Given the description of an element on the screen output the (x, y) to click on. 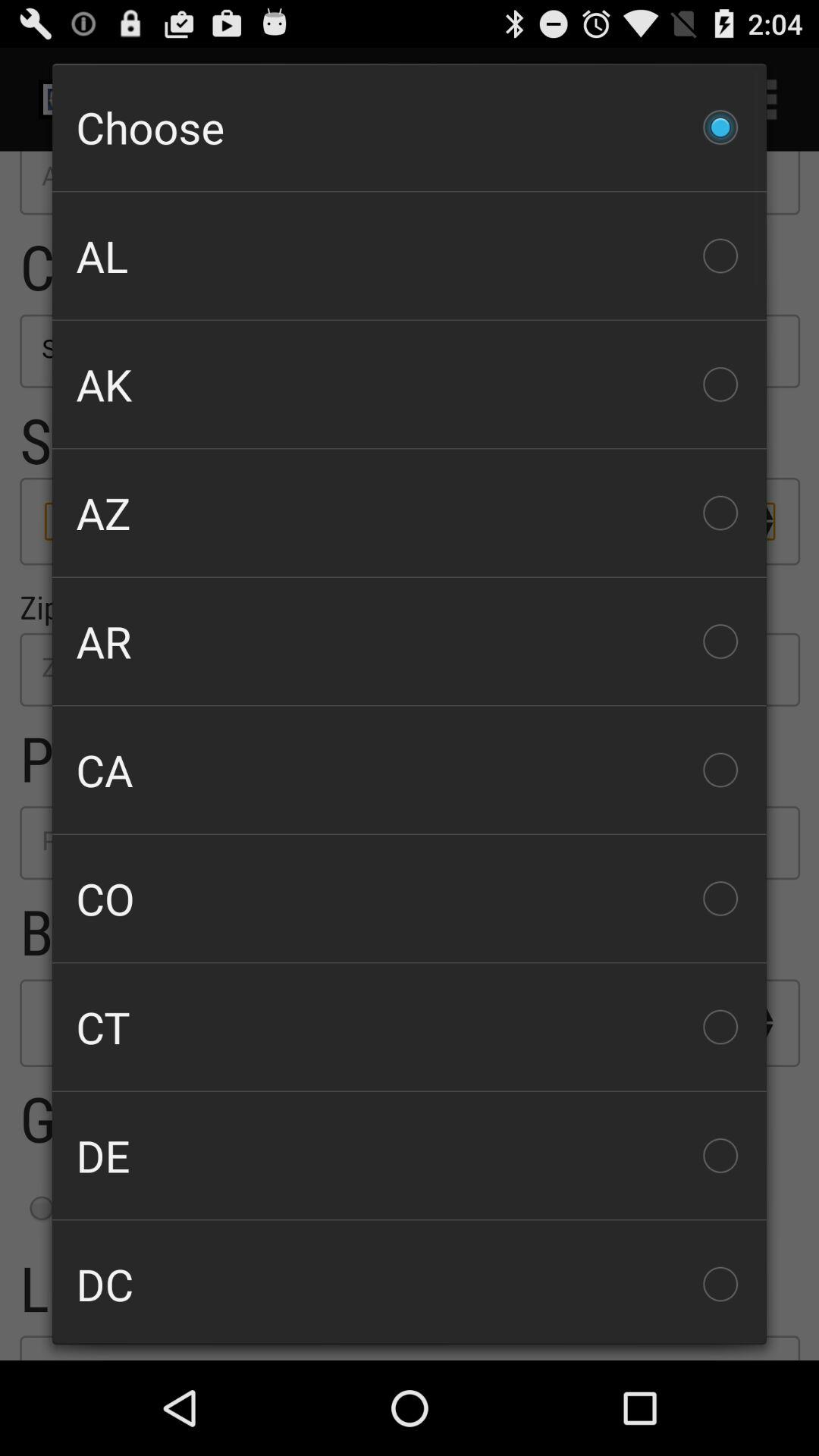
turn off icon above ar checkbox (409, 512)
